Given the description of an element on the screen output the (x, y) to click on. 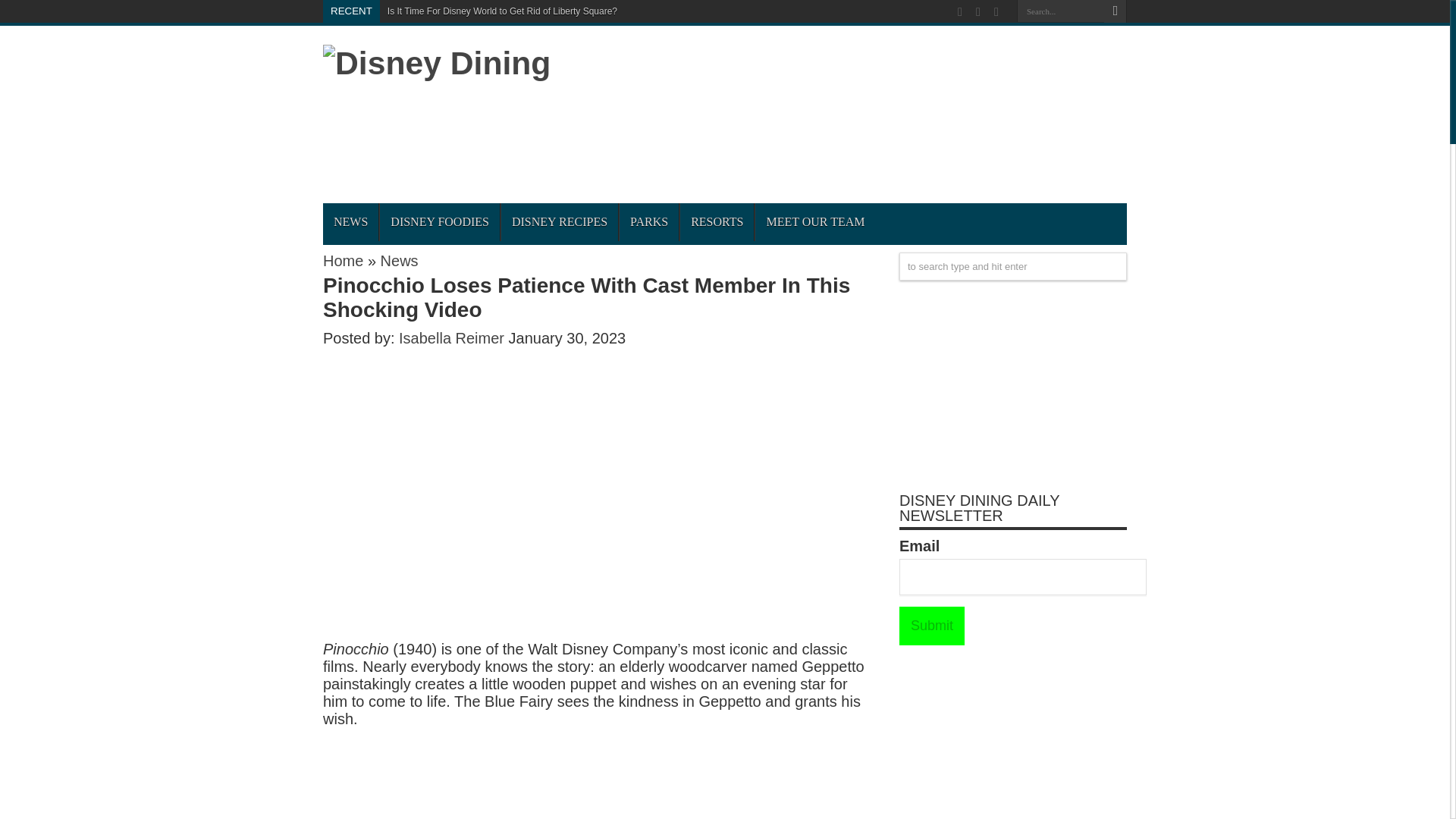
Search (1114, 11)
Isabella Reimer (453, 338)
Search... (1059, 11)
NEWS (350, 221)
DISNEY RECIPES (558, 221)
Home (342, 260)
DISNEY FOODIES (438, 221)
RESORTS (716, 221)
to search type and hit enter (1012, 266)
News (399, 260)
MEET OUR TEAM (814, 221)
Is It Time For Disney World to Get Rid of Liberty Square? (502, 11)
Is It Time For Disney World to Get Rid of Liberty Square? (502, 11)
Disney Dining (436, 63)
PARKS (648, 221)
